Given the description of an element on the screen output the (x, y) to click on. 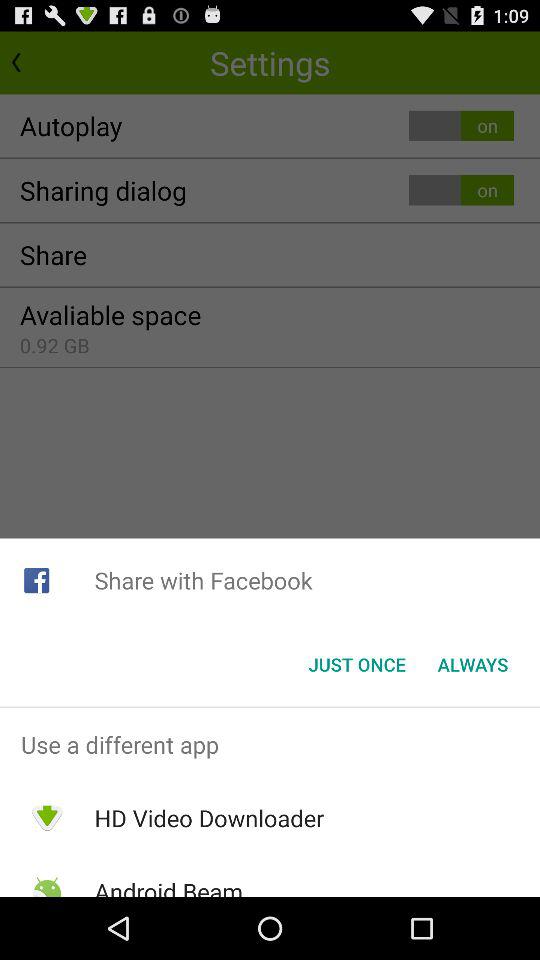
flip to always (472, 664)
